Given the description of an element on the screen output the (x, y) to click on. 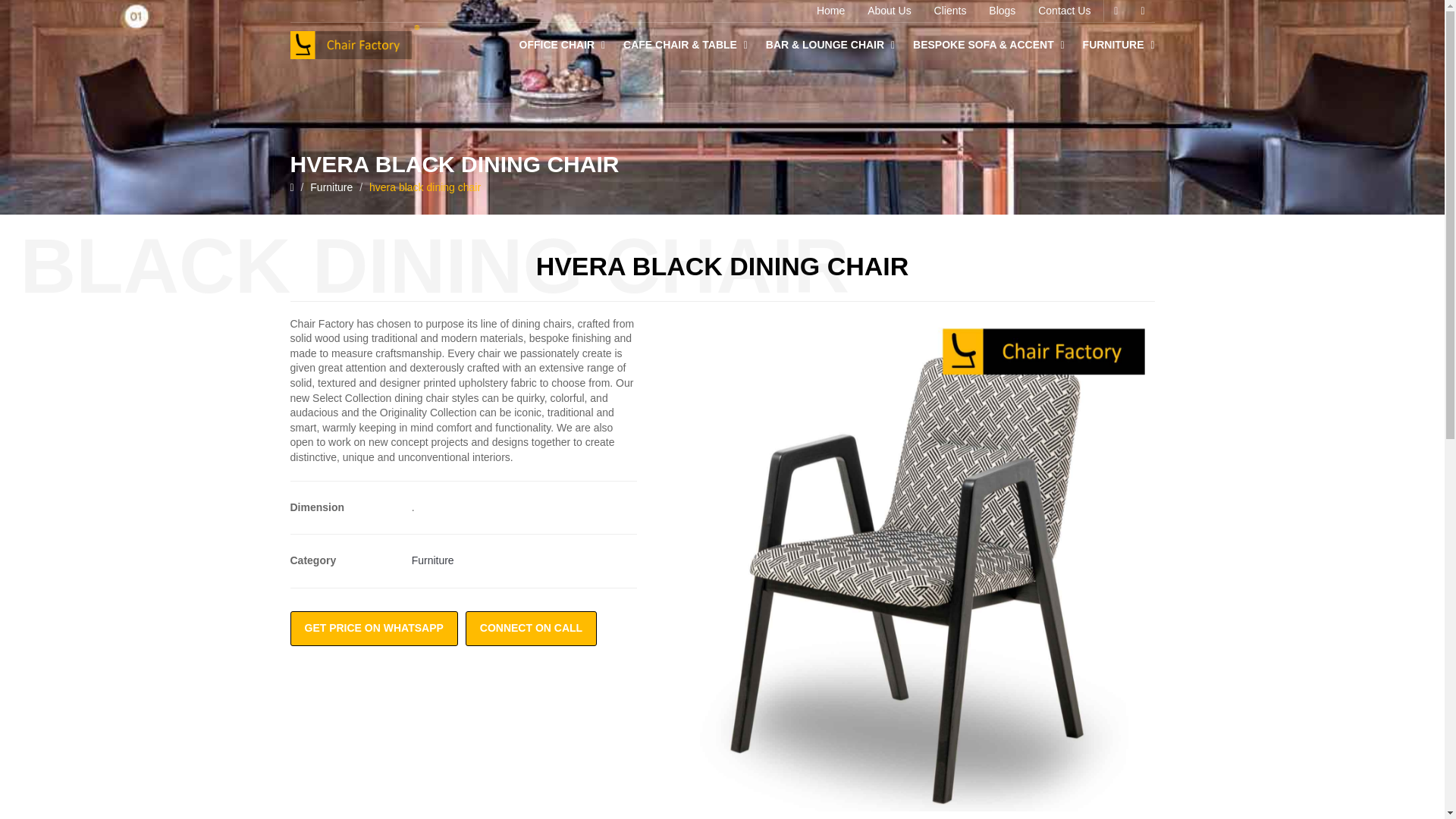
About Us (889, 11)
Blogs (1001, 11)
Contact Us (1063, 11)
OFFICE CHAIR (562, 44)
Clients (950, 11)
Home (830, 11)
